Given the description of an element on the screen output the (x, y) to click on. 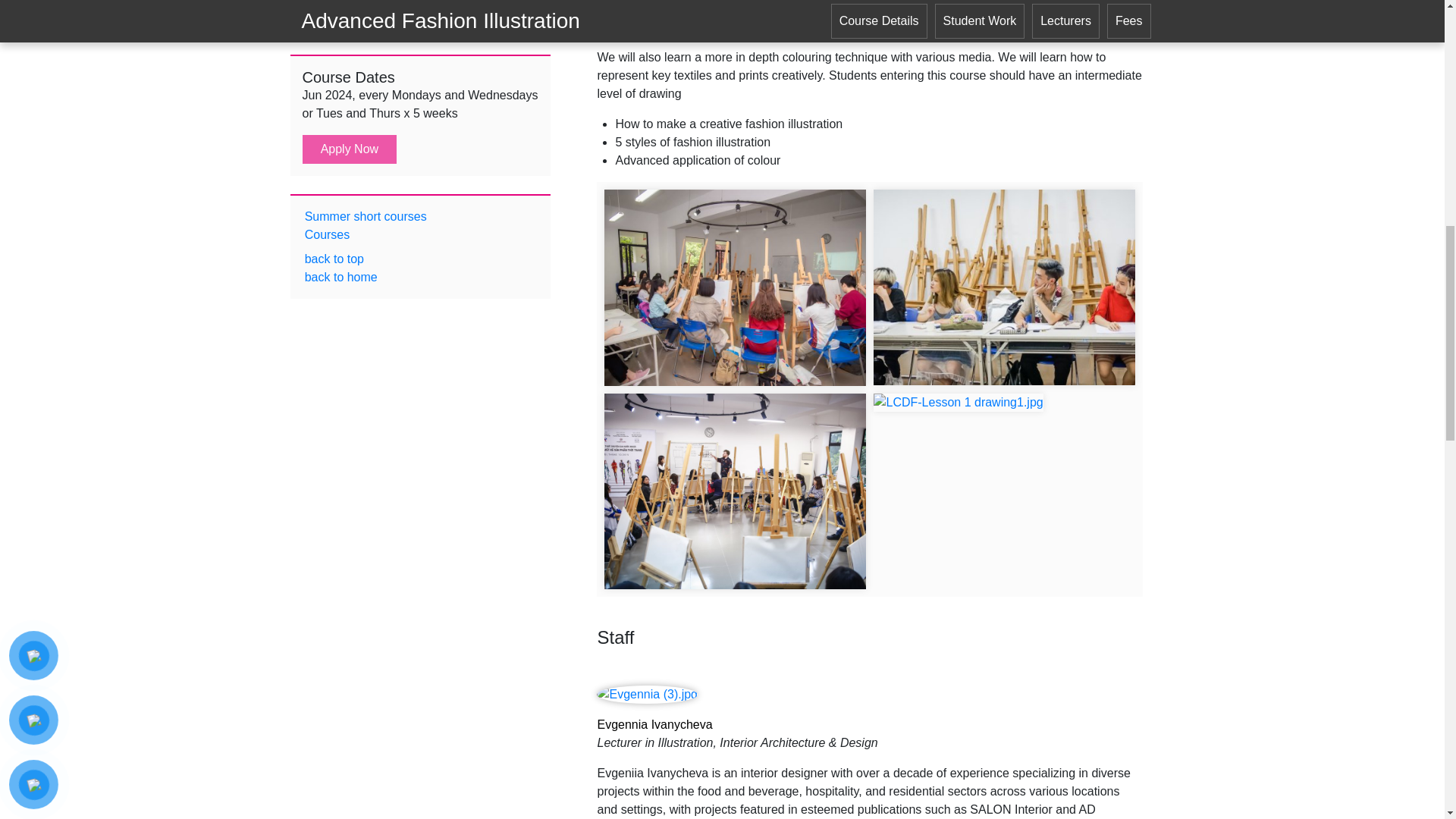
Summer short courses (363, 118)
back to home (339, 178)
Apply Now (348, 51)
Courses (325, 136)
Apply Now (348, 50)
Evgennia Ivanycheva (869, 724)
back to top (331, 160)
